Given the description of an element on the screen output the (x, y) to click on. 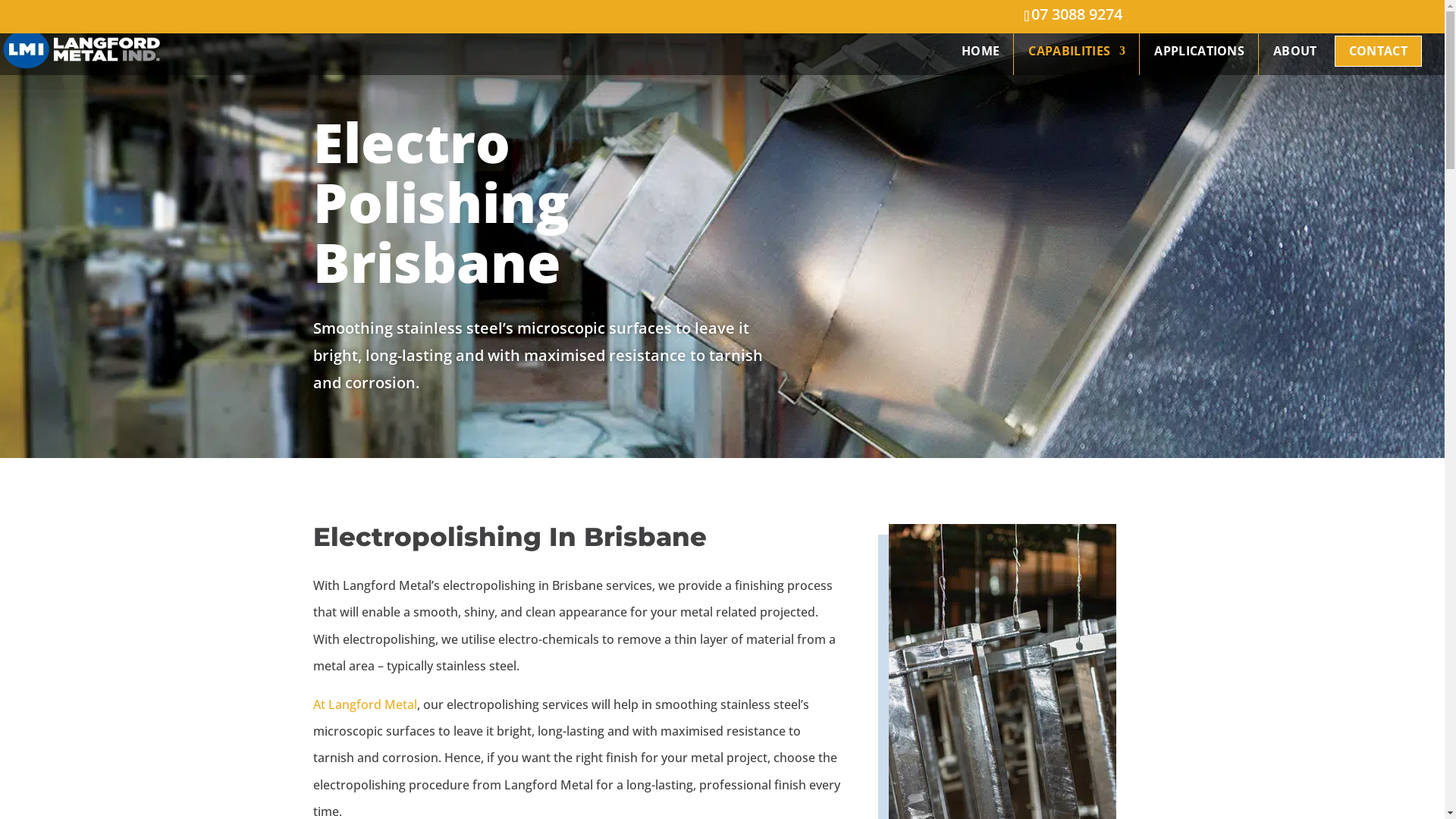
APPLICATIONS Element type: text (1193, 63)
HOME Element type: text (974, 63)
07 3088 9274 Element type: text (1076, 13)
CONTACT Element type: text (1378, 63)
ABOUT Element type: text (1289, 63)
At Langford Metal Element type: text (364, 704)
CAPABILITIES Element type: text (1071, 63)
